Given the description of an element on the screen output the (x, y) to click on. 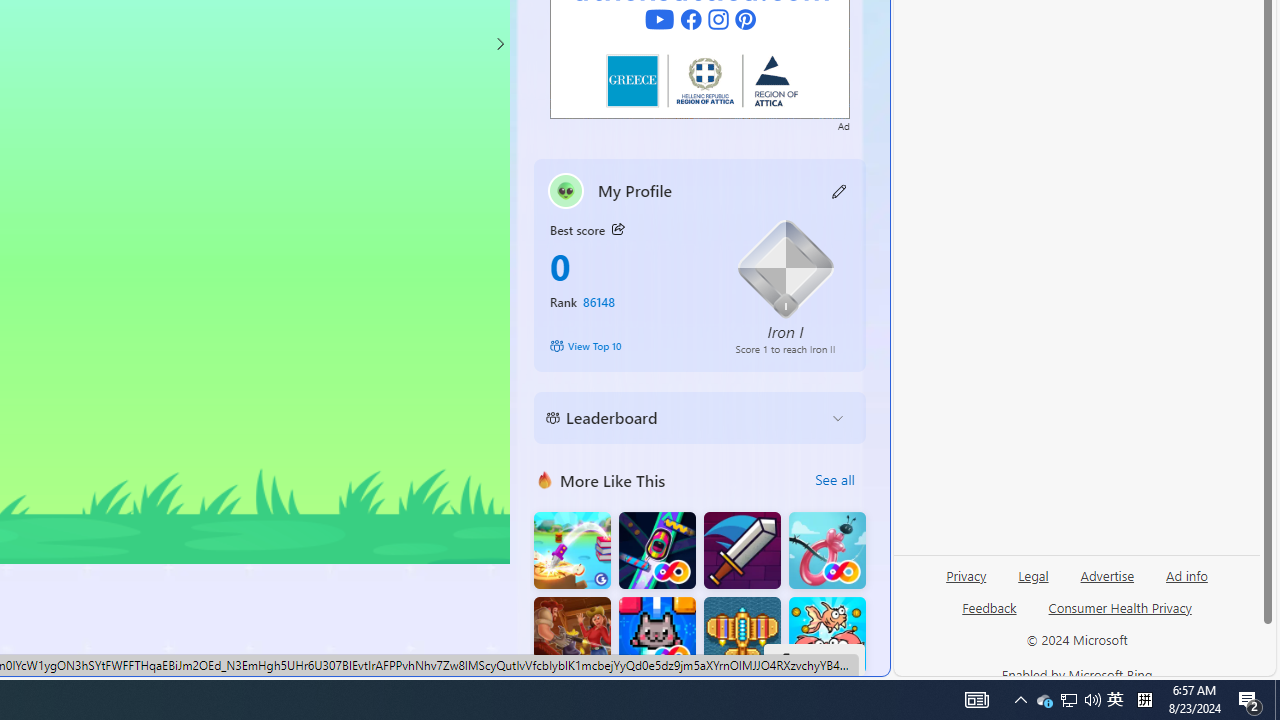
Kitten Force FRVR (657, 635)
More Like This (544, 479)
Dungeon Master Knight (742, 550)
Knife Flip (571, 550)
Saloon Robbery (571, 635)
""'s avatar (565, 190)
See all (834, 479)
Class: button (617, 229)
